Given the description of an element on the screen output the (x, y) to click on. 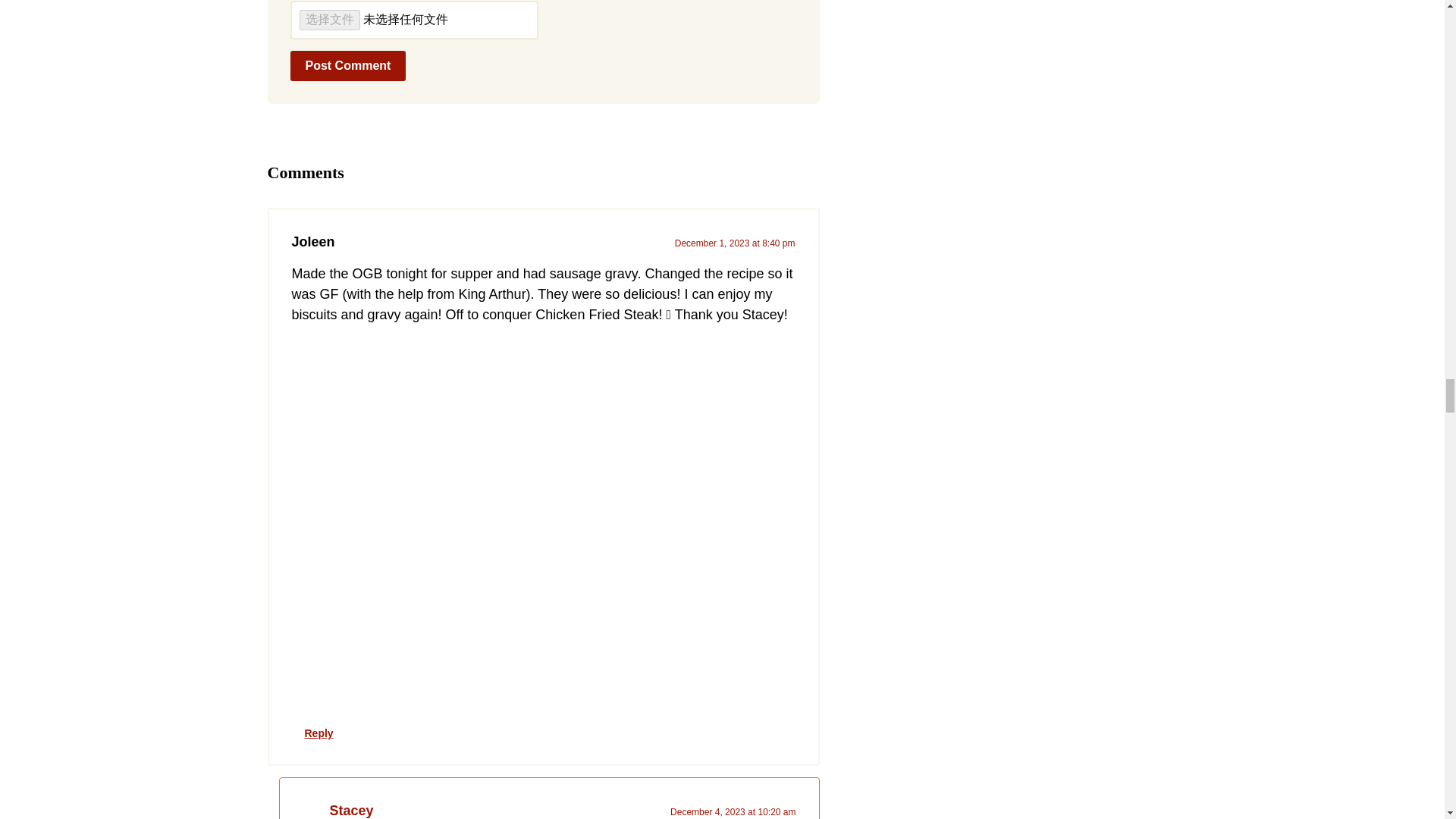
Post Comment (347, 65)
